Given the description of an element on the screen output the (x, y) to click on. 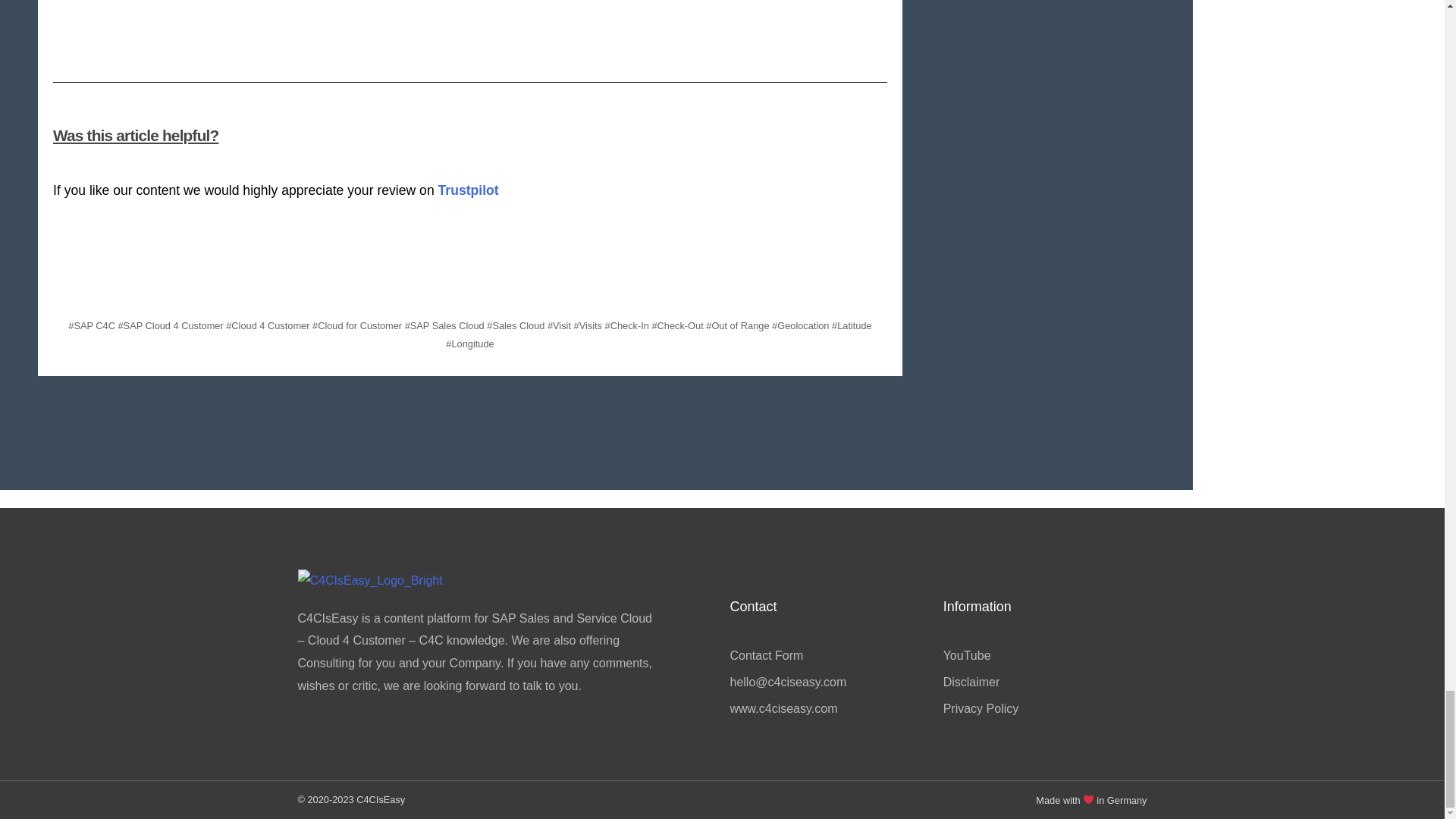
Disclaimer (1043, 681)
www.c4ciseasy.com (828, 708)
Trustpilot (468, 190)
YouTube (1043, 655)
Contact Form (828, 655)
